Given the description of an element on the screen output the (x, y) to click on. 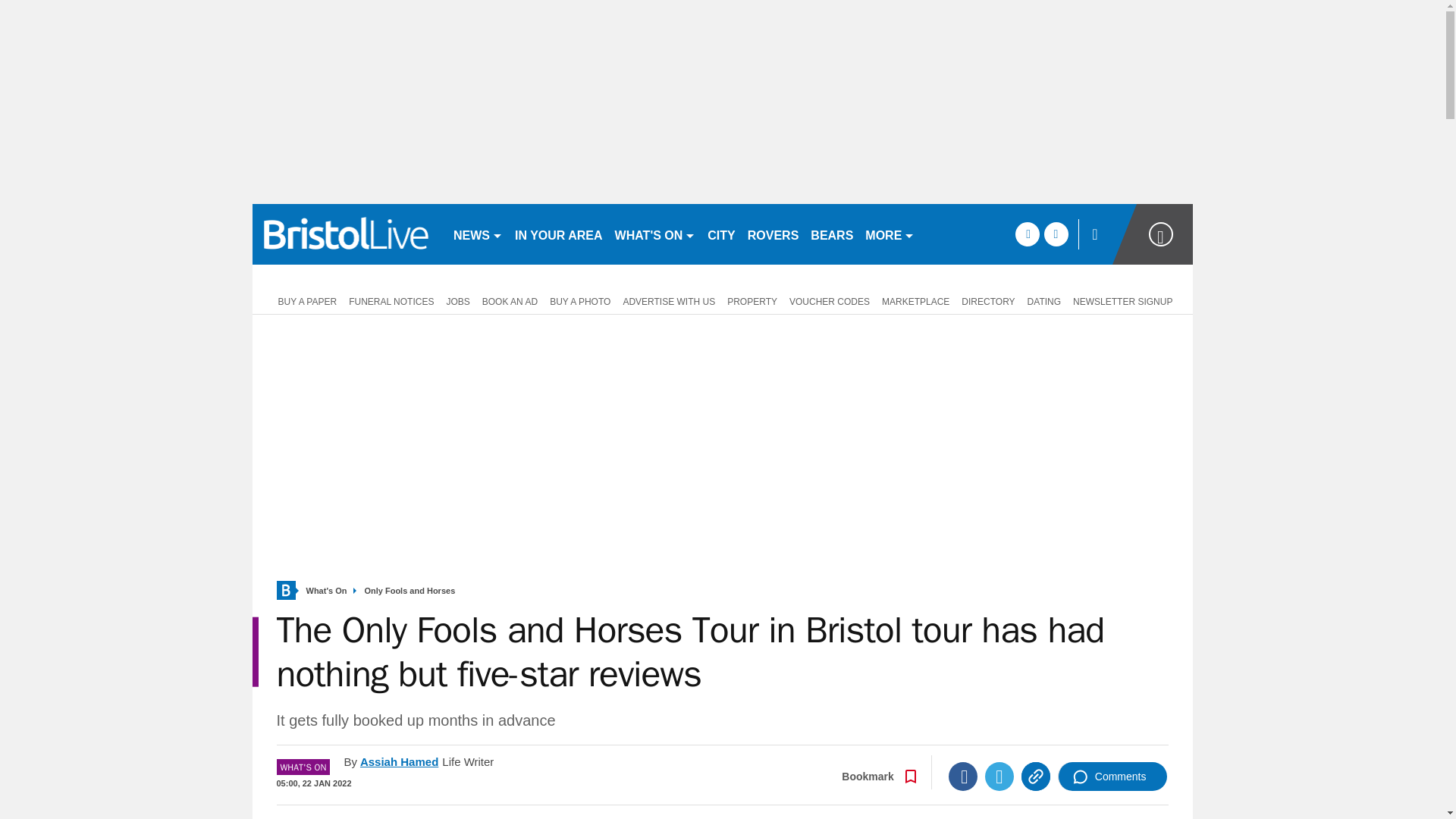
bristolpost (345, 233)
Twitter (999, 776)
NEWS (477, 233)
facebook (1026, 233)
Comments (1112, 776)
ROVERS (773, 233)
BEARS (832, 233)
MORE (889, 233)
Facebook (962, 776)
WHAT'S ON (654, 233)
